Given the description of an element on the screen output the (x, y) to click on. 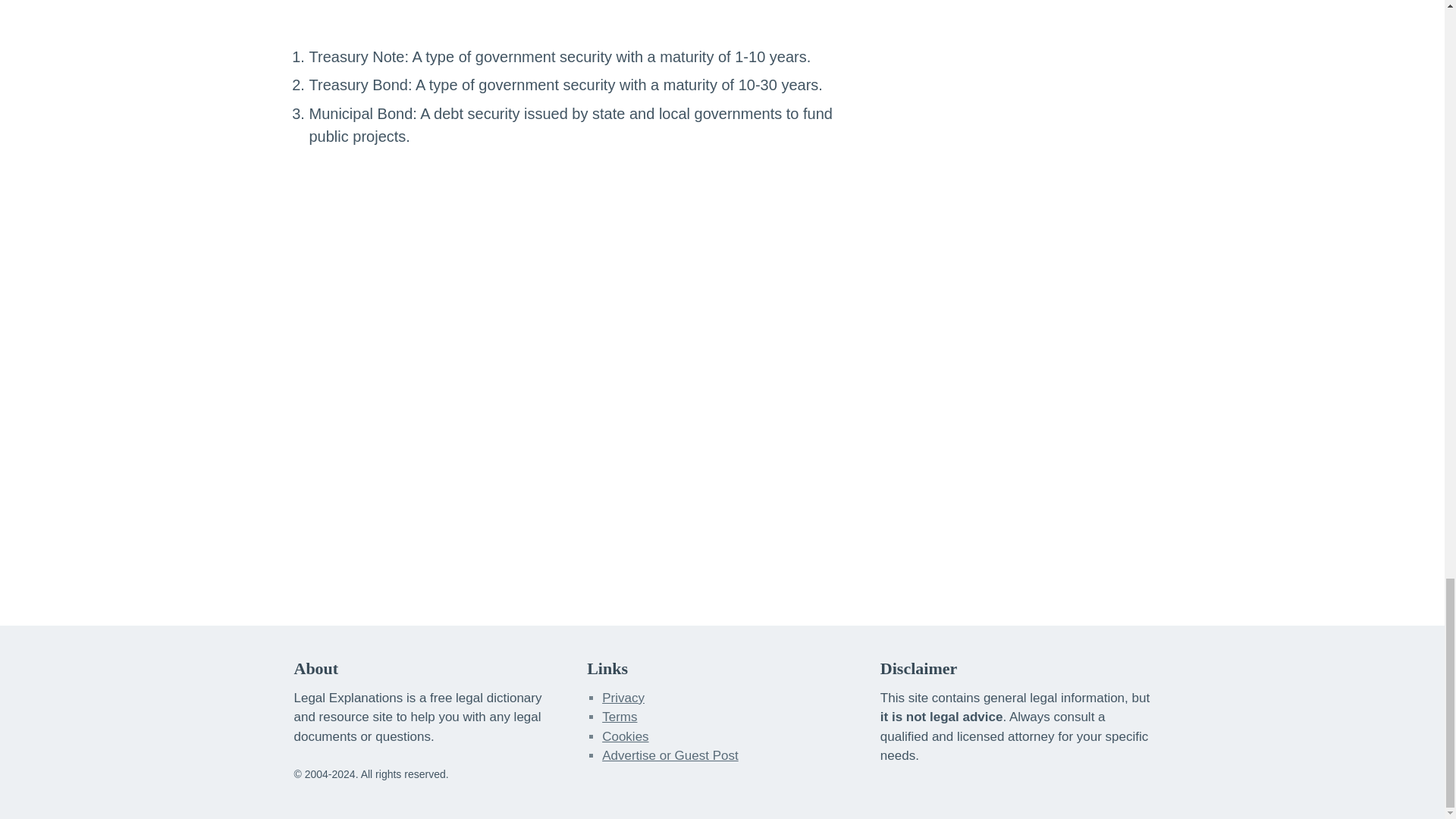
Terms (619, 716)
Cookies (624, 736)
Privacy (623, 698)
Advertise or Guest Post (670, 755)
